Given the description of an element on the screen output the (x, y) to click on. 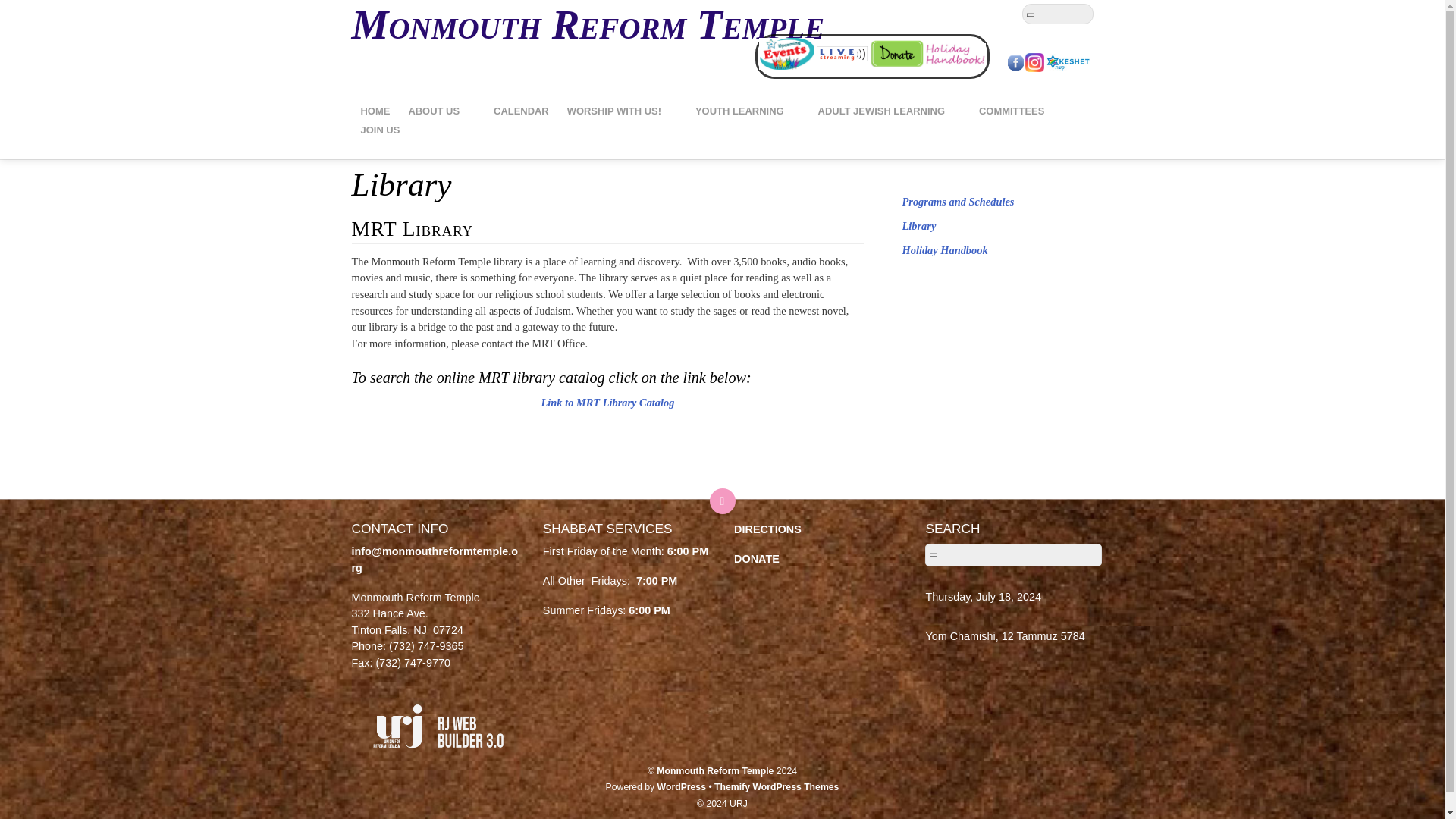
YOUTH LEARNING (747, 111)
COMMITTEES (1018, 111)
WORSHIP WITH US! (621, 111)
Monmouth Reform Temple (588, 24)
ADULT JEWISH LEARNING (889, 111)
CALENDAR (520, 111)
Search (1057, 14)
Search (1012, 554)
ABOUT US (441, 111)
Monmouth Reform Temple (588, 24)
HOME (375, 111)
